Given the description of an element on the screen output the (x, y) to click on. 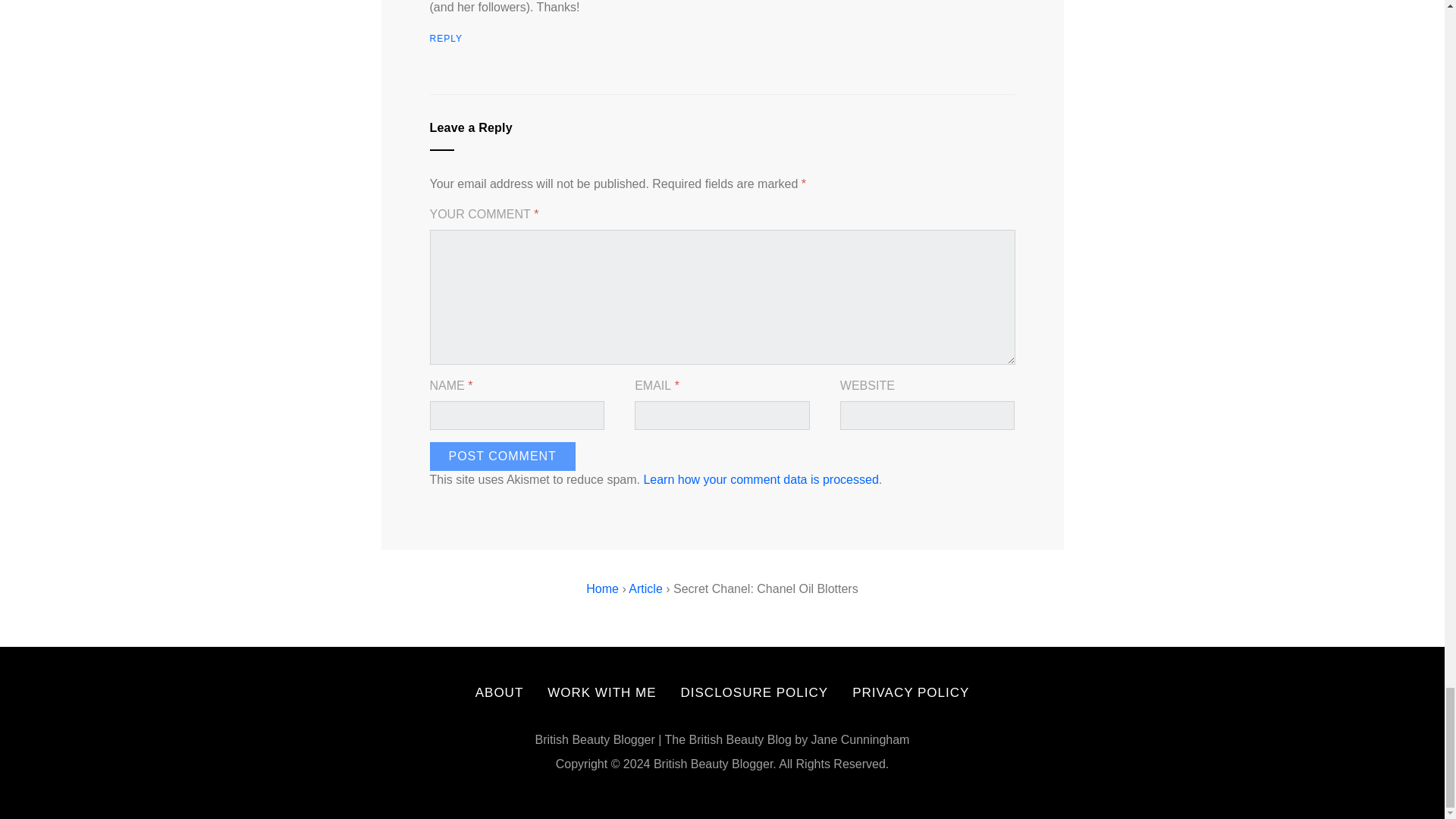
Post Comment (502, 456)
